Given the description of an element on the screen output the (x, y) to click on. 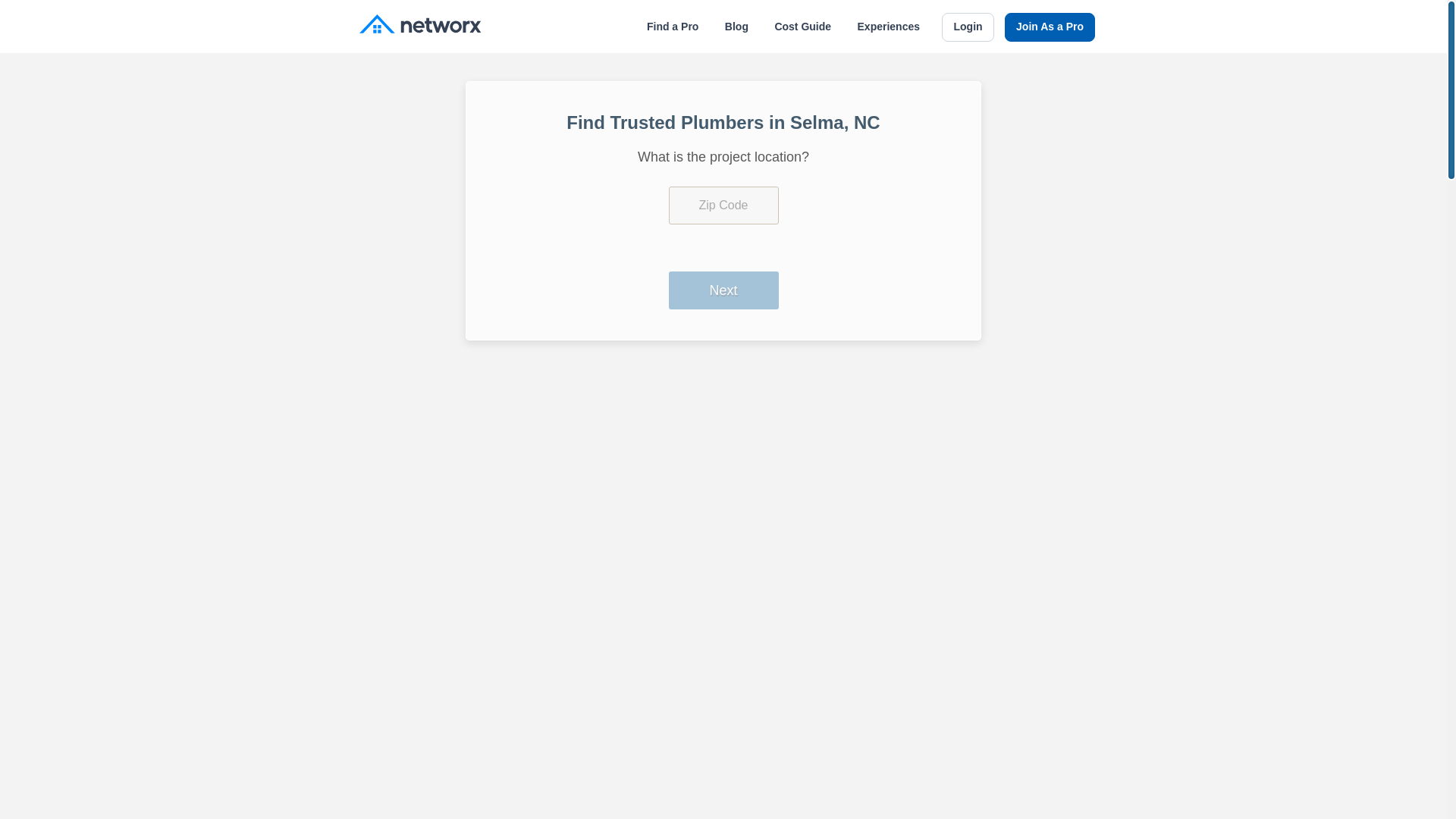
Join As a Pro (1049, 27)
Please enter a valid zip code (723, 205)
Networx (419, 25)
Login (967, 27)
Find a Pro (672, 26)
Experiences (888, 26)
Next (723, 290)
Cost Guide (802, 26)
